Given the description of an element on the screen output the (x, y) to click on. 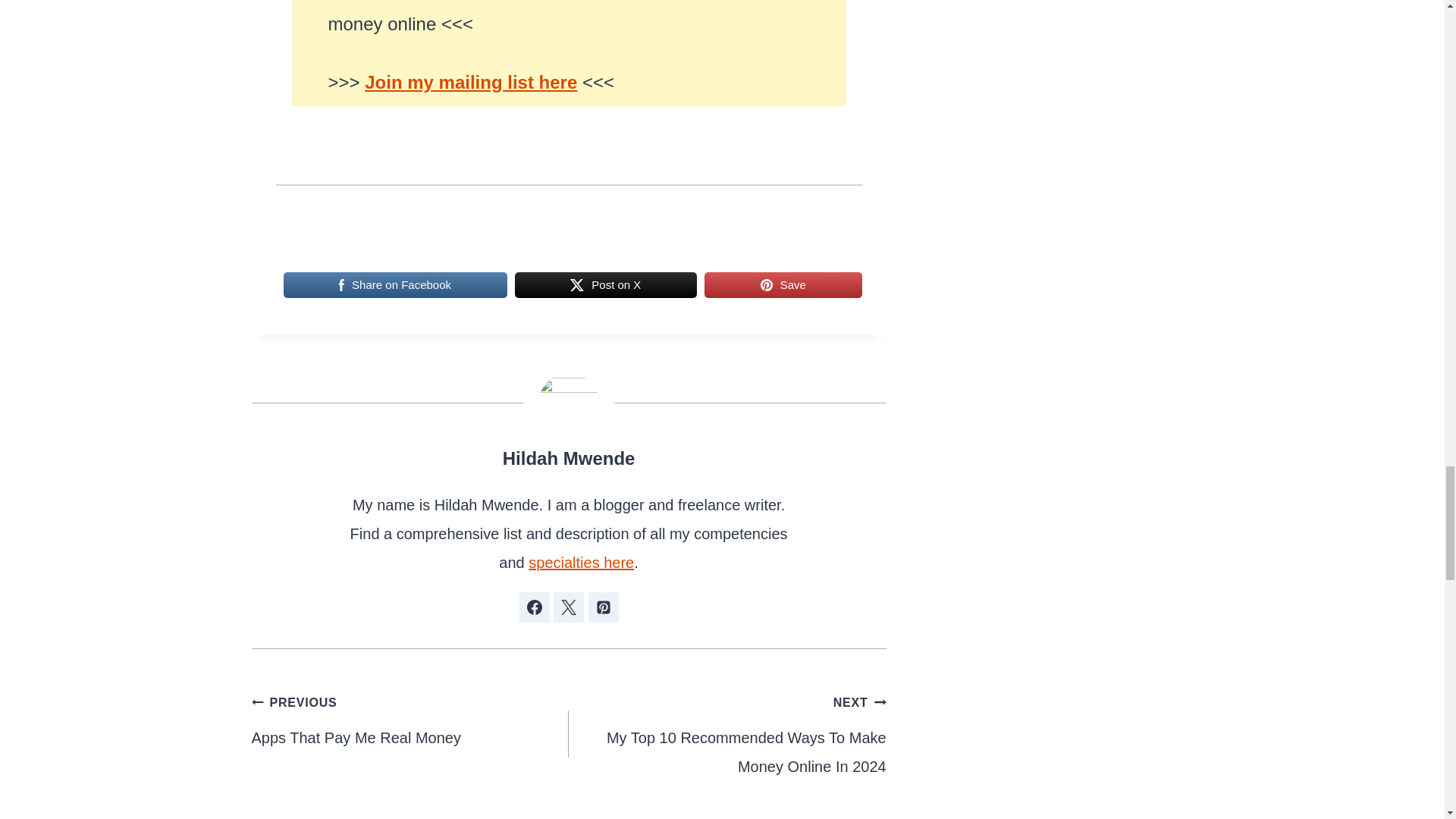
Follow Hildah Mwende on Facebook (533, 607)
Join my mailing list here (470, 82)
Follow Hildah Mwende on X formerly Twitter (568, 607)
Save (782, 285)
Follow Hildah Mwende on Pinterest (603, 607)
Post on X (606, 285)
Share on Facebook (394, 285)
Posts by Hildah Mwende (568, 457)
